Given the description of an element on the screen output the (x, y) to click on. 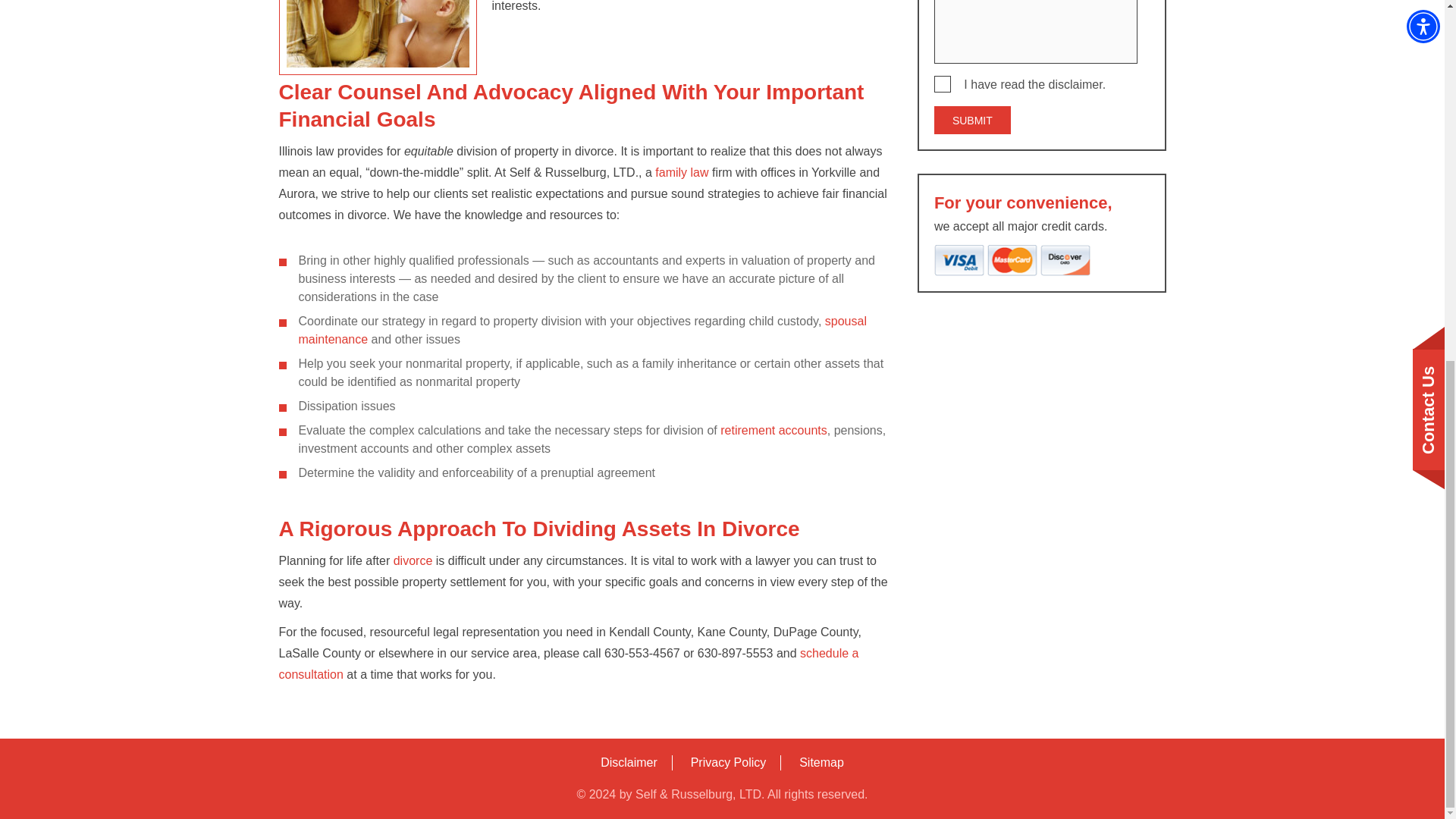
retirement accounts (773, 430)
Sitemap (821, 762)
Spousal Maintenance Alimony (582, 329)
Disclaimer (628, 762)
spousal maintenance (582, 329)
divorce (412, 560)
Contact Us (569, 663)
family law (681, 172)
Family Law (681, 172)
Privacy Policy (728, 762)
Retirement Accounts In Divorce (773, 430)
schedule a consultation (569, 663)
Divorce (412, 560)
Submit (972, 120)
Submit (972, 120)
